Given the description of an element on the screen output the (x, y) to click on. 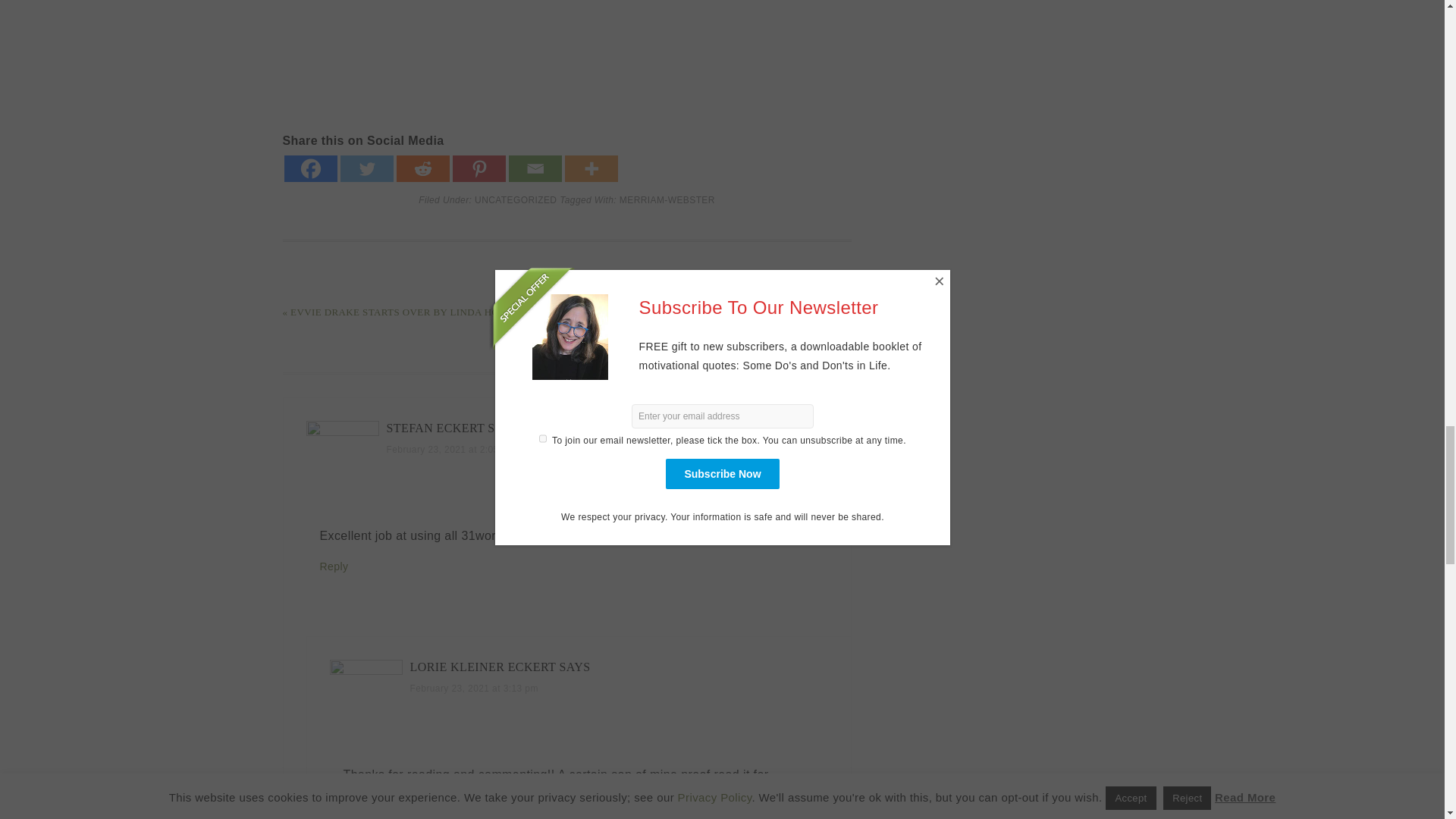
February 23, 2021 at 3:13 pm (473, 688)
UNCATEGORIZED (515, 199)
Reddit (422, 168)
Twitter (366, 168)
Email (534, 168)
Reply (334, 566)
February 23, 2021 at 2:05 pm (451, 449)
MERRIAM-WEBSTER (667, 199)
Facebook (309, 168)
Pinterest (478, 168)
More (590, 168)
